Given the description of an element on the screen output the (x, y) to click on. 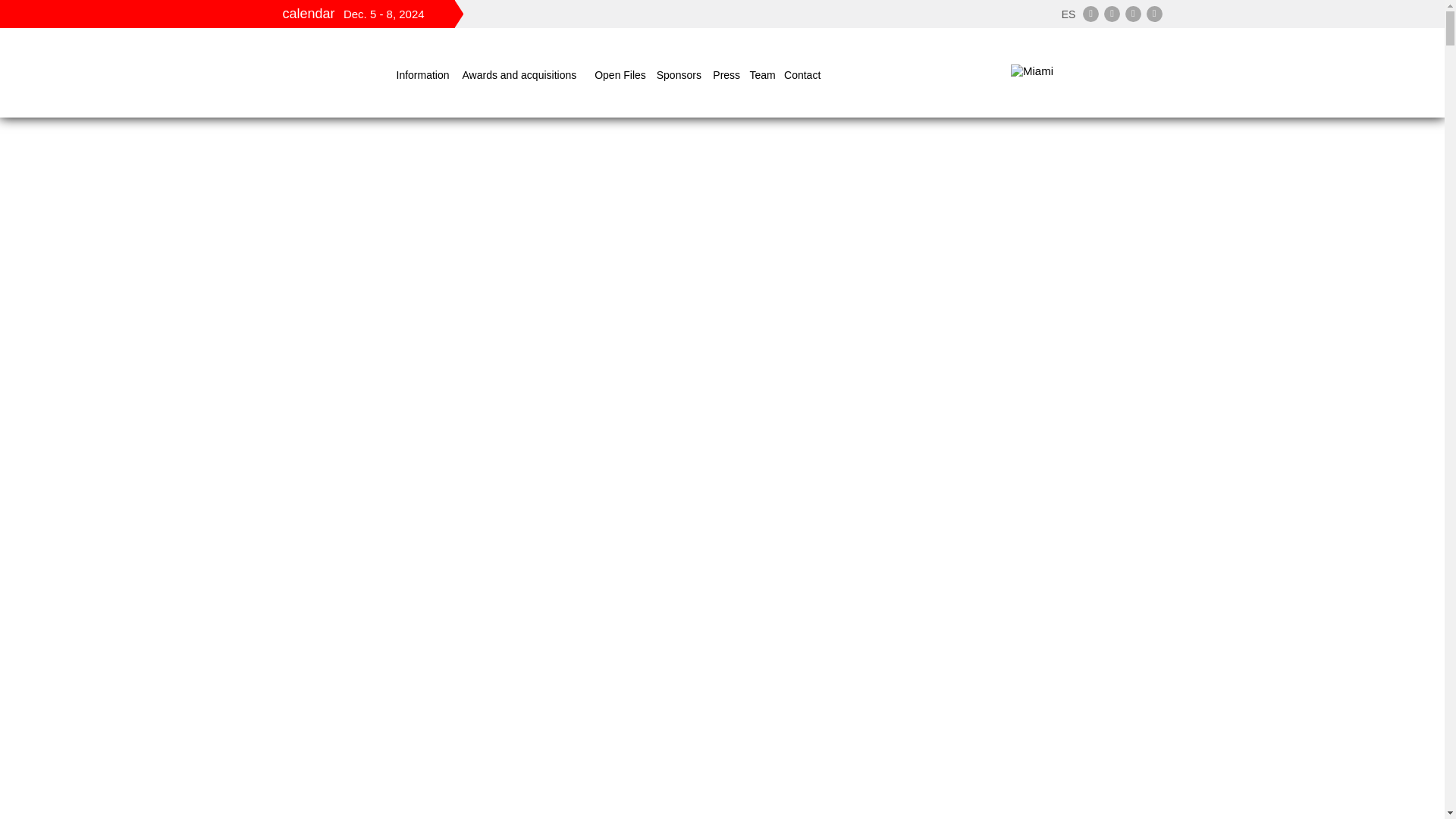
Information (425, 74)
Sponsors (681, 74)
ES (1068, 13)
Open Files (621, 74)
Team (762, 74)
Awards and acquisitions (525, 74)
Miami (1085, 72)
Contact (804, 74)
Press (727, 74)
